Given the description of an element on the screen output the (x, y) to click on. 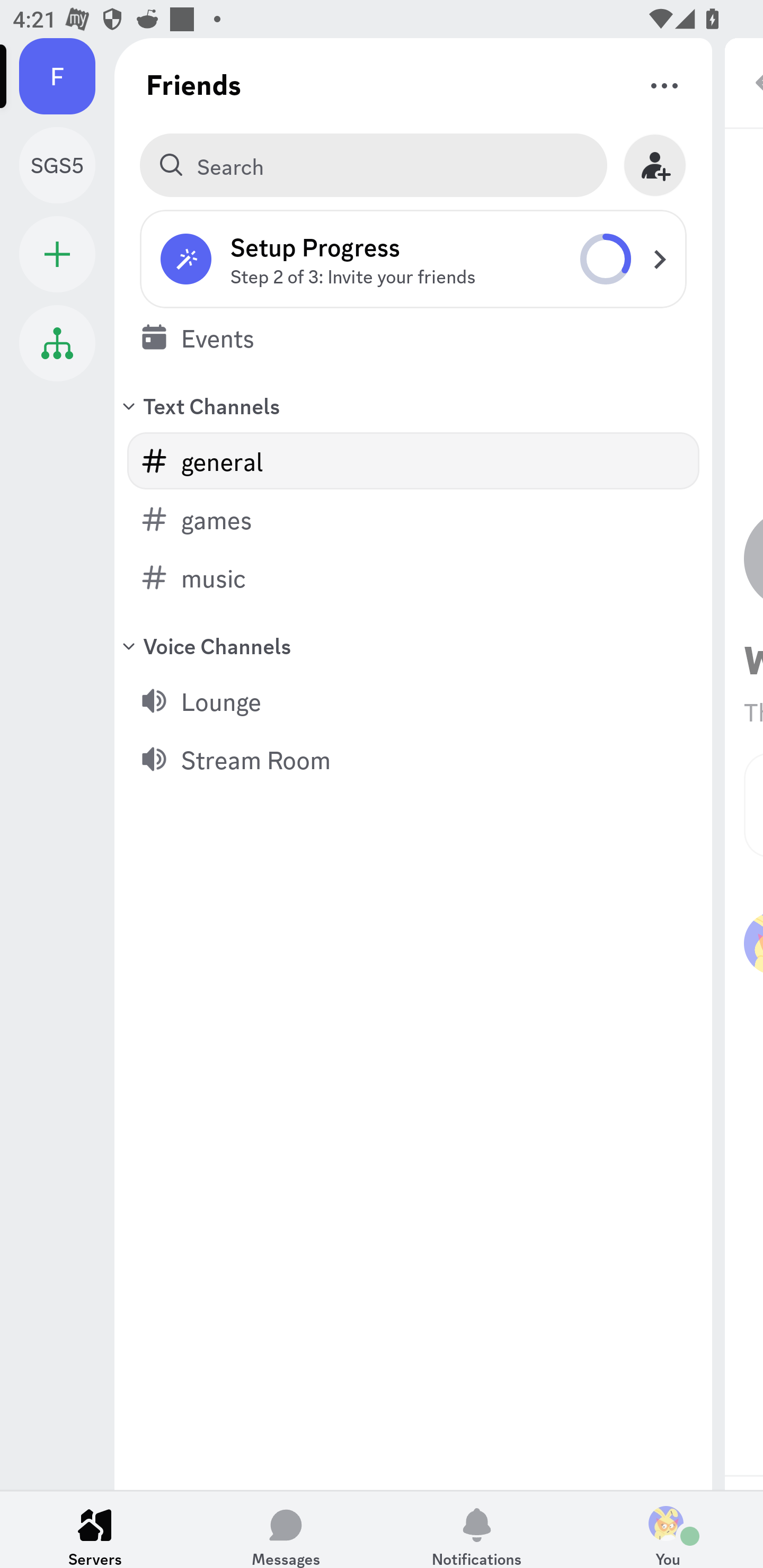
  Friends F (66, 75)
Friends (193, 83)
  Study Group Sunday 5PM SGS5 (66, 165)
Search (373, 165)
Invite (654, 165)
Add a Server (57, 253)
Student Hub (57, 343)
Events (413, 336)
Text Channels (412, 404)
general (text channel) general (413, 460)
games (text channel) games (413, 518)
music (text channel) music (413, 576)
Voice Channels (412, 644)
Lounge (voice channel), 0 users Lounge (413, 700)
Stream Room (voice channel), 0 users Stream Room (413, 758)
Servers (95, 1529)
Messages (285, 1529)
Notifications (476, 1529)
You (667, 1529)
